Given the description of an element on the screen output the (x, y) to click on. 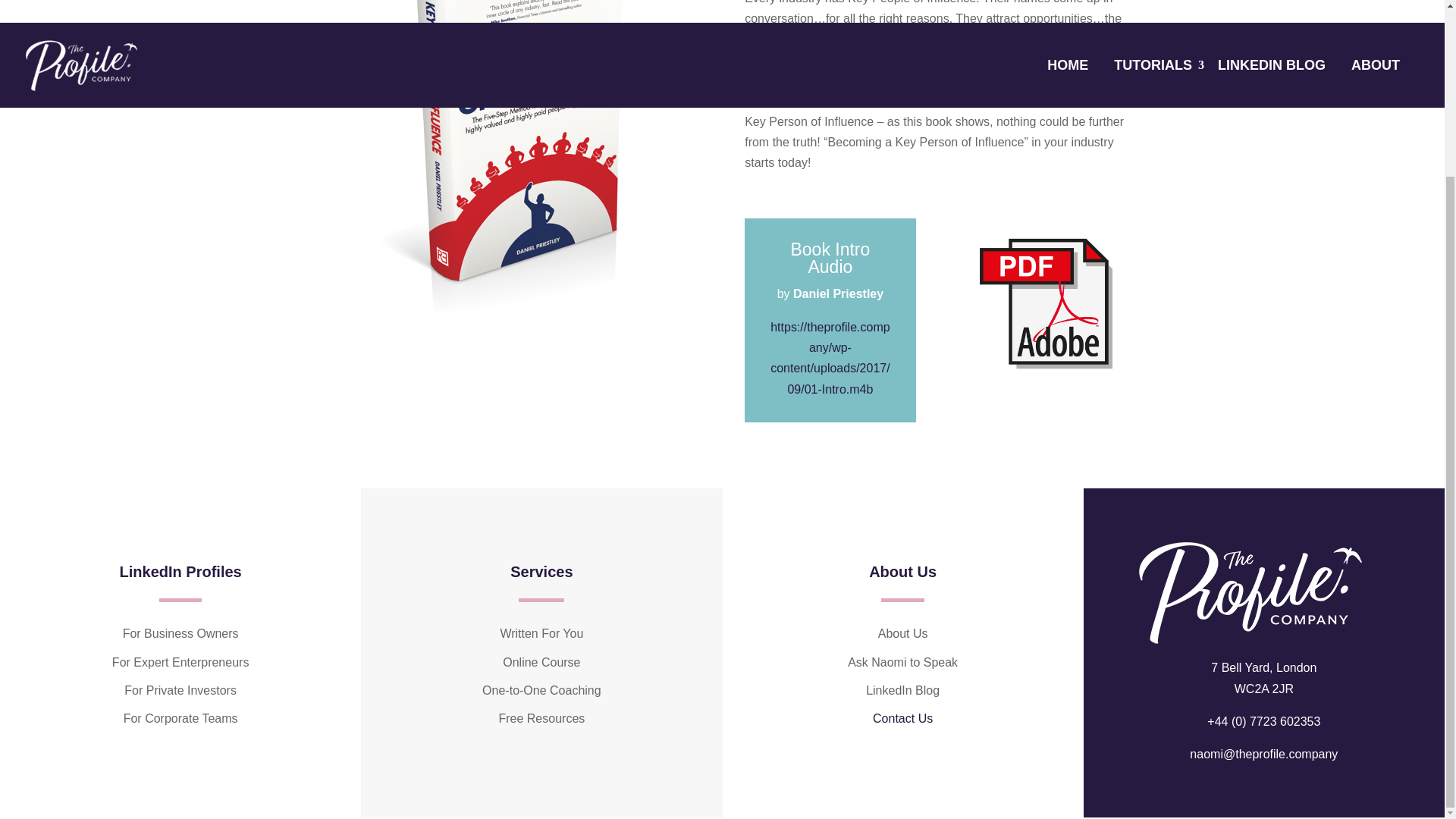
LinkedIn Blog (902, 662)
LinkedIn Blog (902, 689)
TheProfile (1250, 593)
About Us (902, 633)
